Given the description of an element on the screen output the (x, y) to click on. 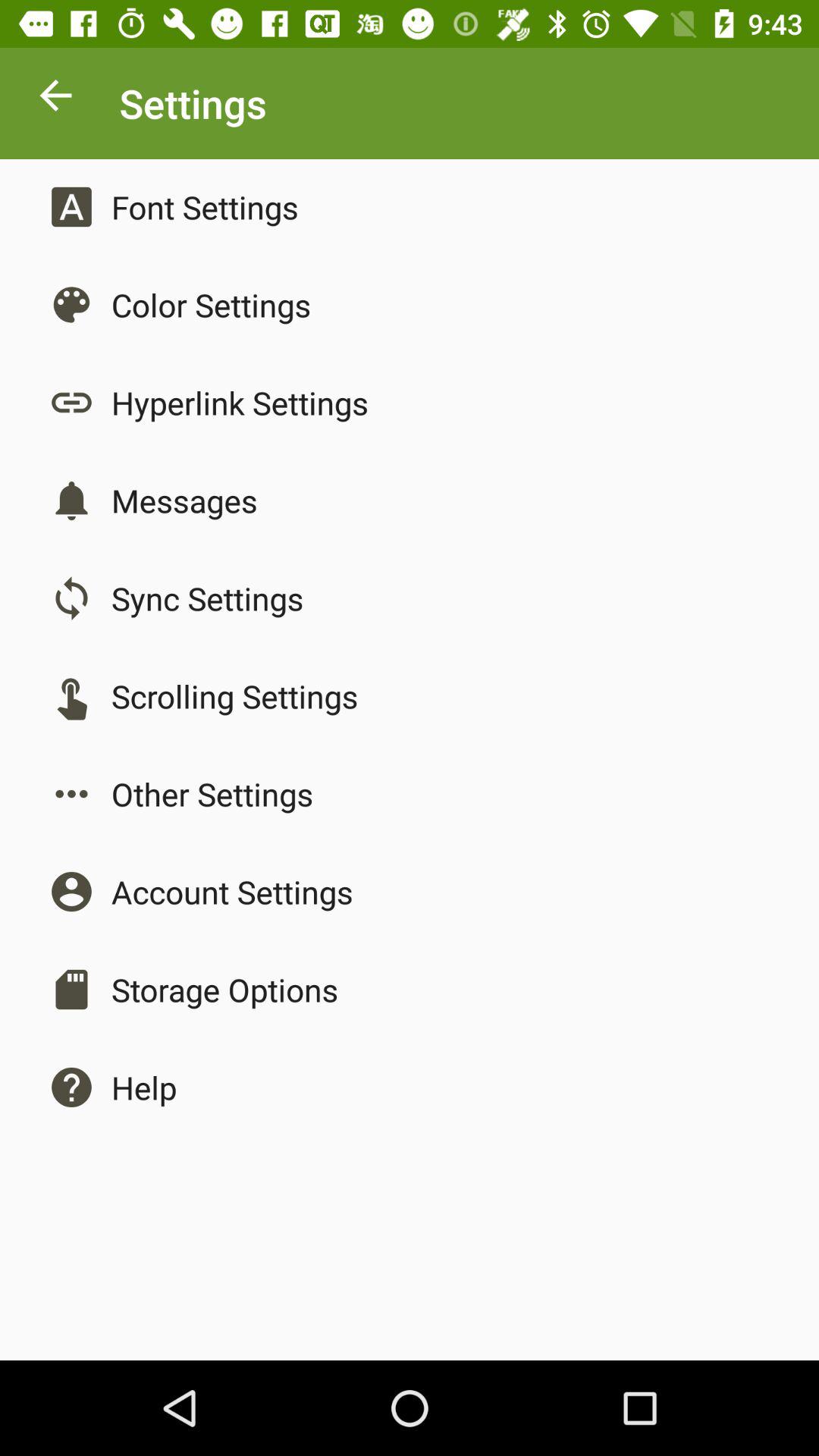
flip to hyperlink settings app (239, 402)
